Given the description of an element on the screen output the (x, y) to click on. 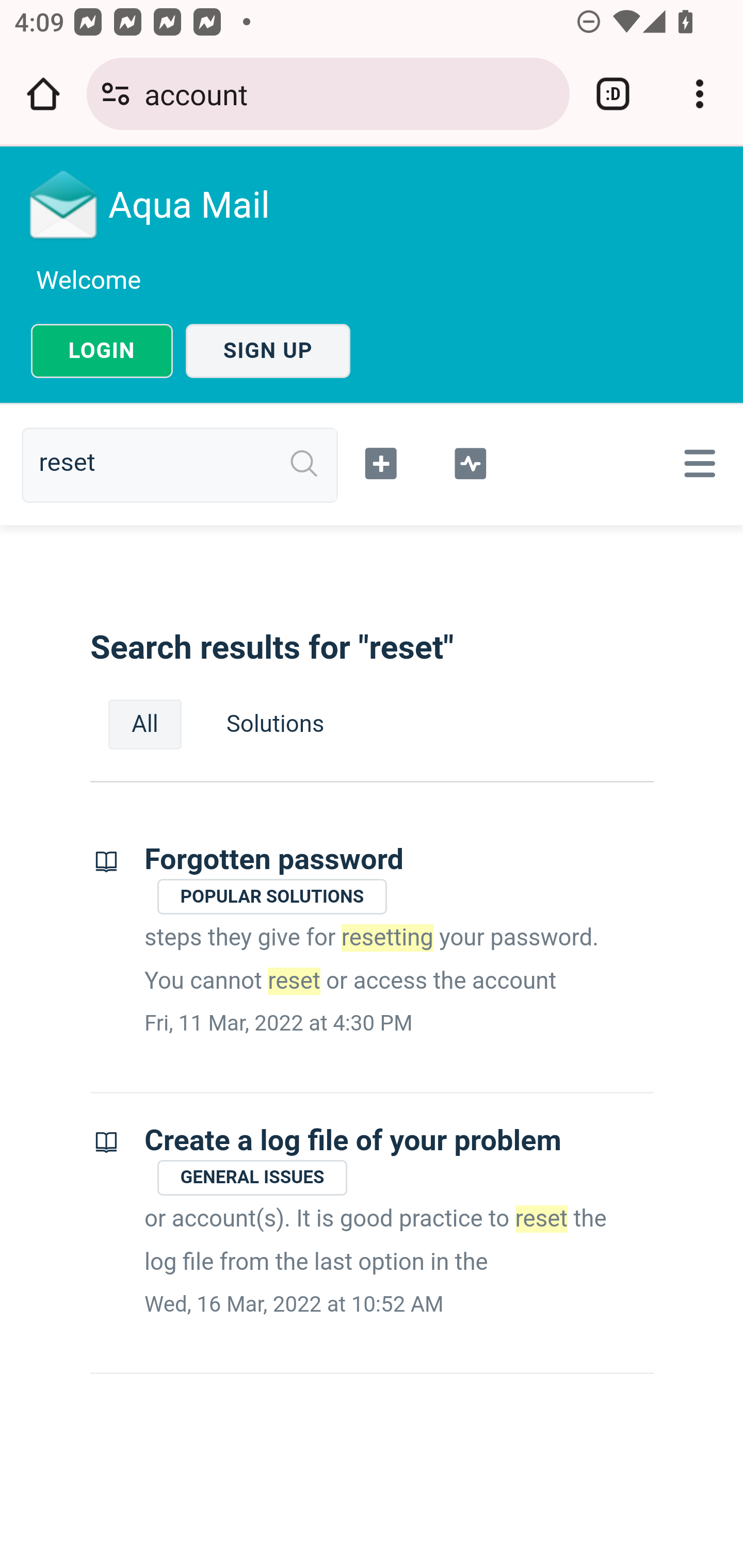
Open the home page (43, 93)
Connection is secure (115, 93)
Switch or close tabs (612, 93)
Customize and control Google Chrome (699, 93)
account (349, 92)
Logo (63, 204)
LOGIN (101, 351)
SIGN UP (268, 351)
 (695, 463)
reset (187, 464)
Search (304, 464)
 (381, 460)
 (470, 460)
All (145, 724)
Solutions (275, 724)
Forgotten password (274, 860)
Create a log file of your problem (353, 1140)
